Given the description of an element on the screen output the (x, y) to click on. 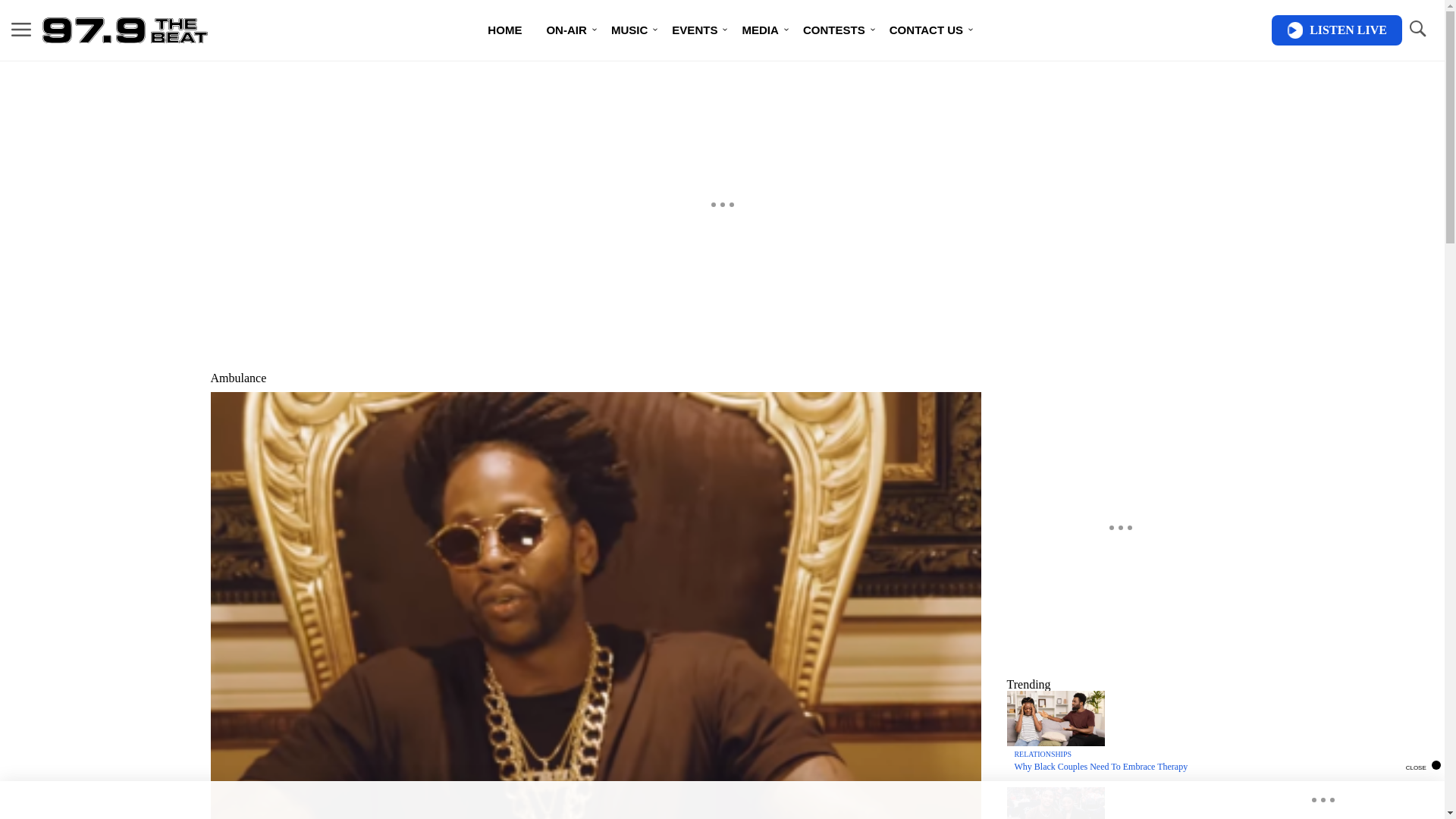
ON-AIR (566, 30)
EVENTS (694, 30)
HOME (505, 30)
MEDIA (759, 30)
CONTESTS (833, 30)
MENU (20, 30)
MENU (20, 29)
TOGGLE SEARCH (1417, 30)
CONTACT US (926, 30)
MUSIC (628, 30)
TOGGLE SEARCH (1417, 28)
LISTEN LIVE (1336, 30)
